Given the description of an element on the screen output the (x, y) to click on. 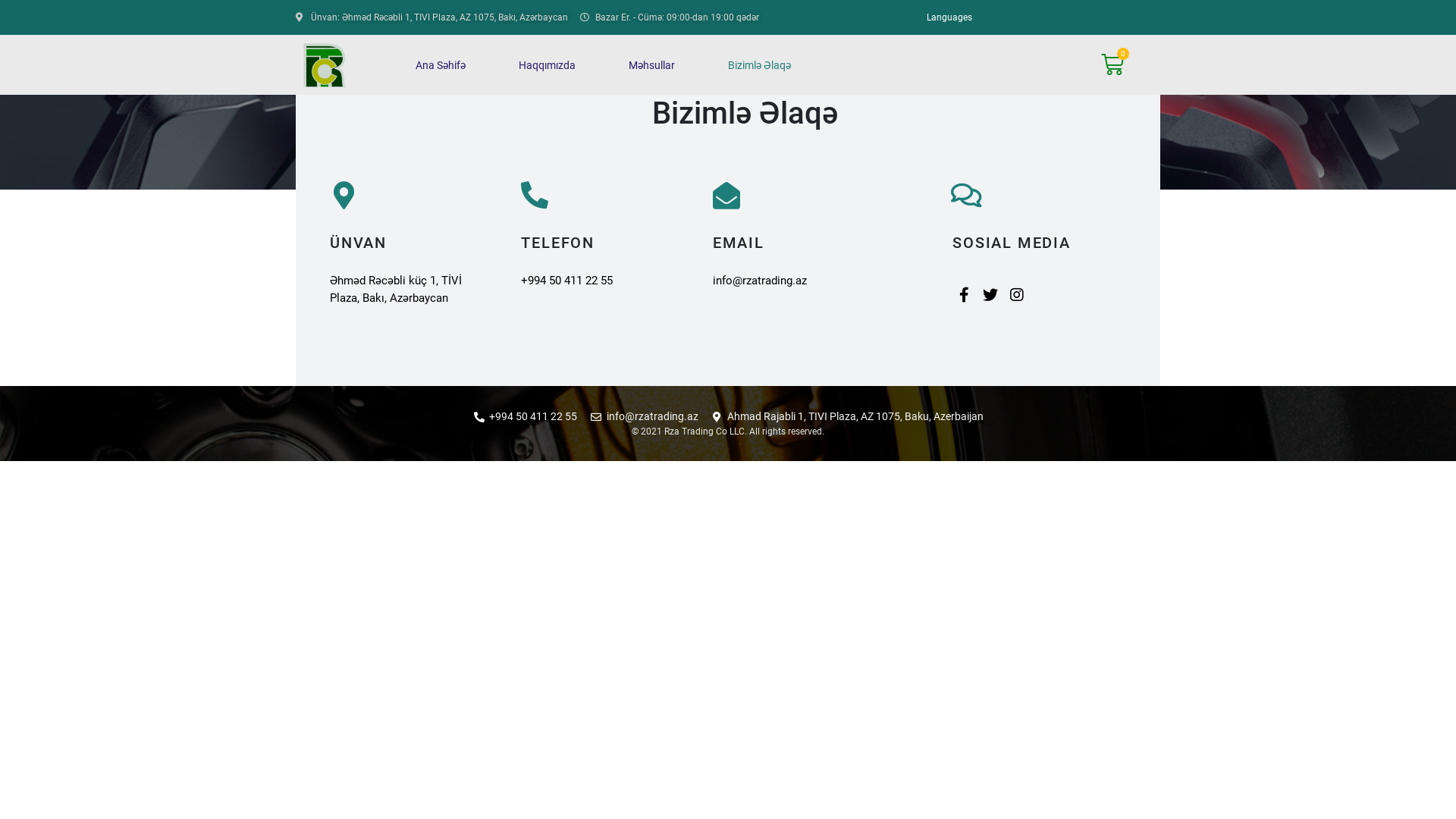
0 Element type: text (1112, 64)
Languages Element type: text (948, 17)
